Given the description of an element on the screen output the (x, y) to click on. 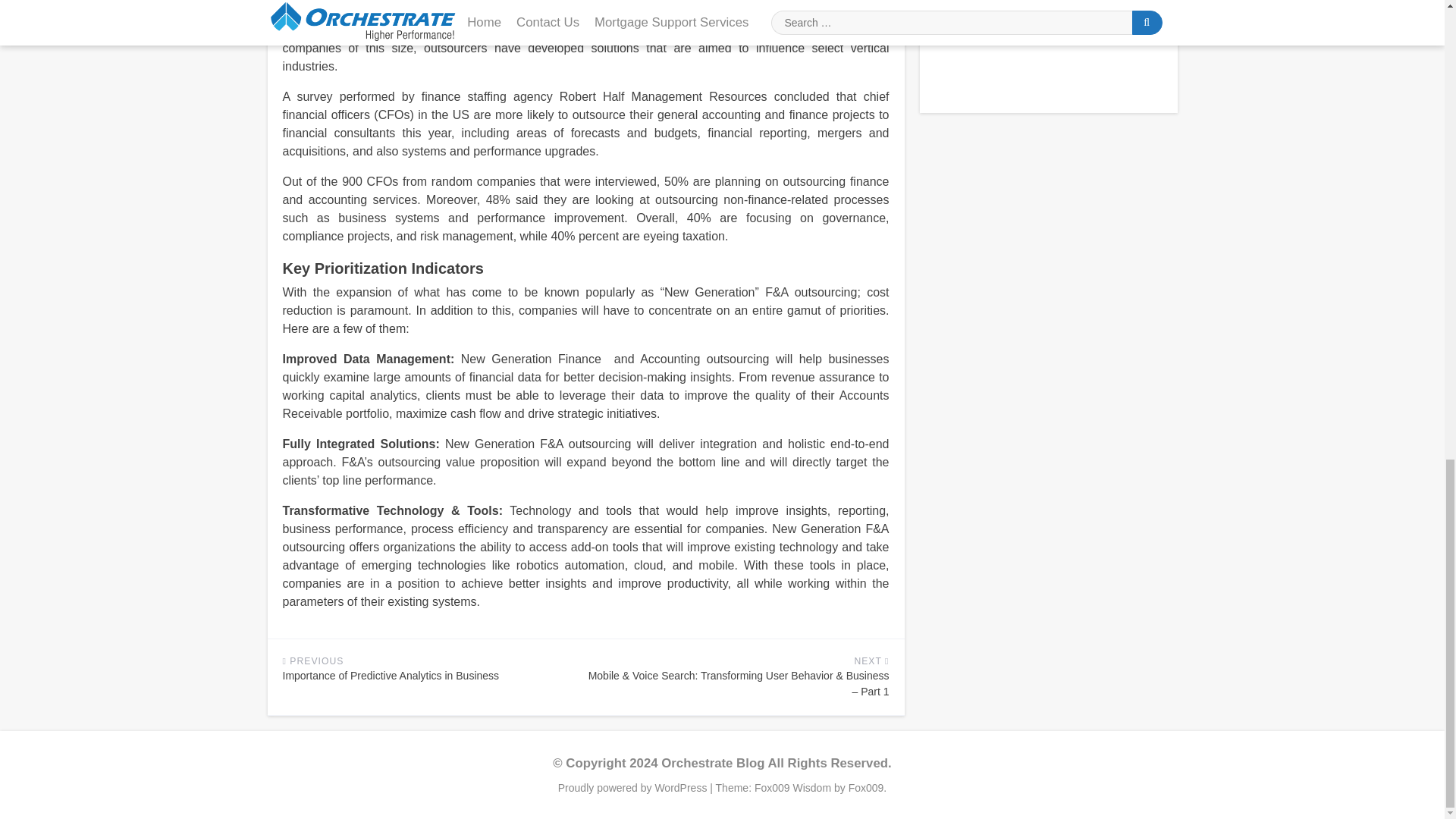
Orchestrate Blog (712, 762)
YouTube video player (1047, 46)
Fox009 (865, 787)
Proudly powered by WordPress (633, 787)
